Given the description of an element on the screen output the (x, y) to click on. 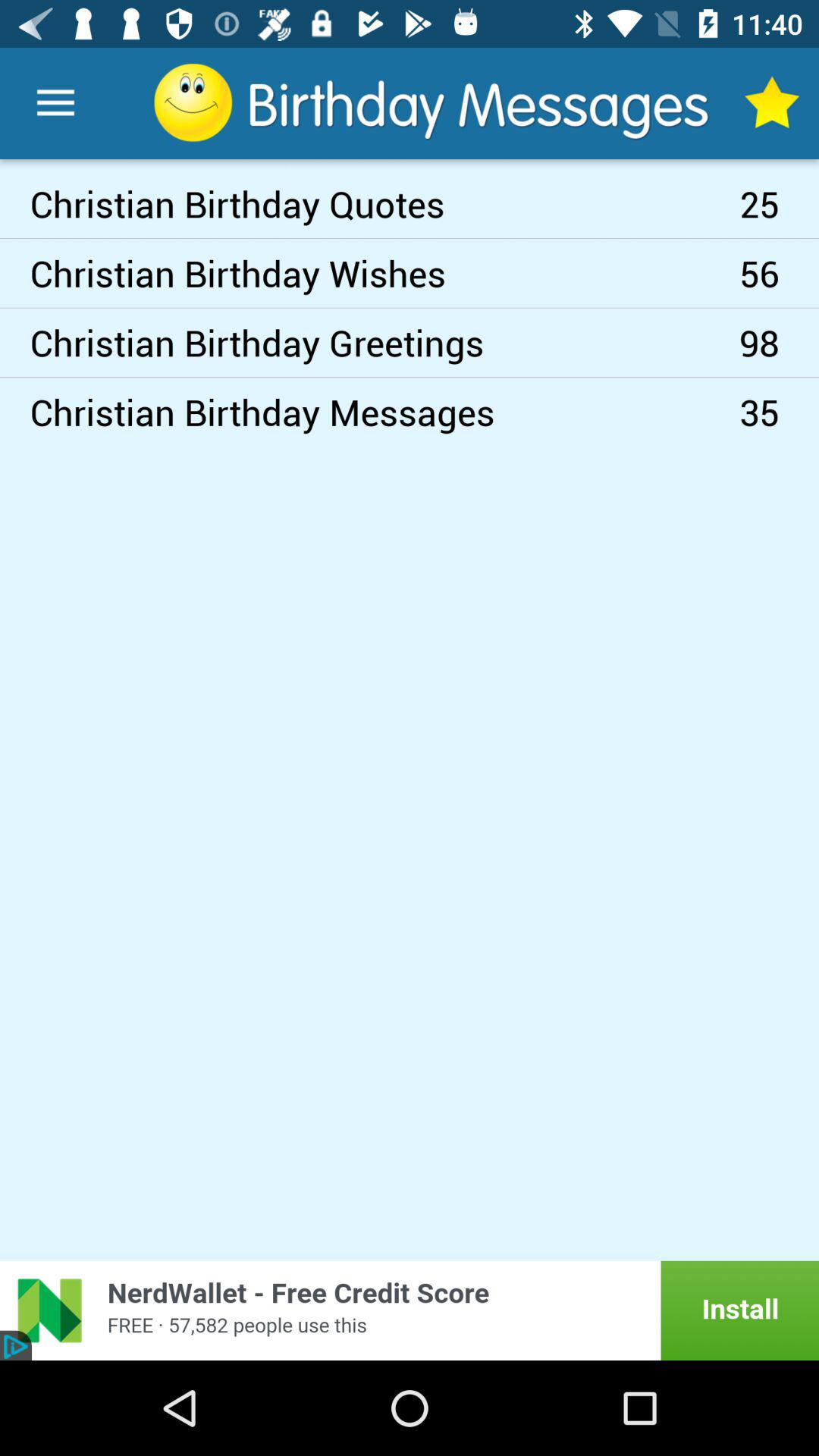
click install nerdwallet (409, 1310)
